Given the description of an element on the screen output the (x, y) to click on. 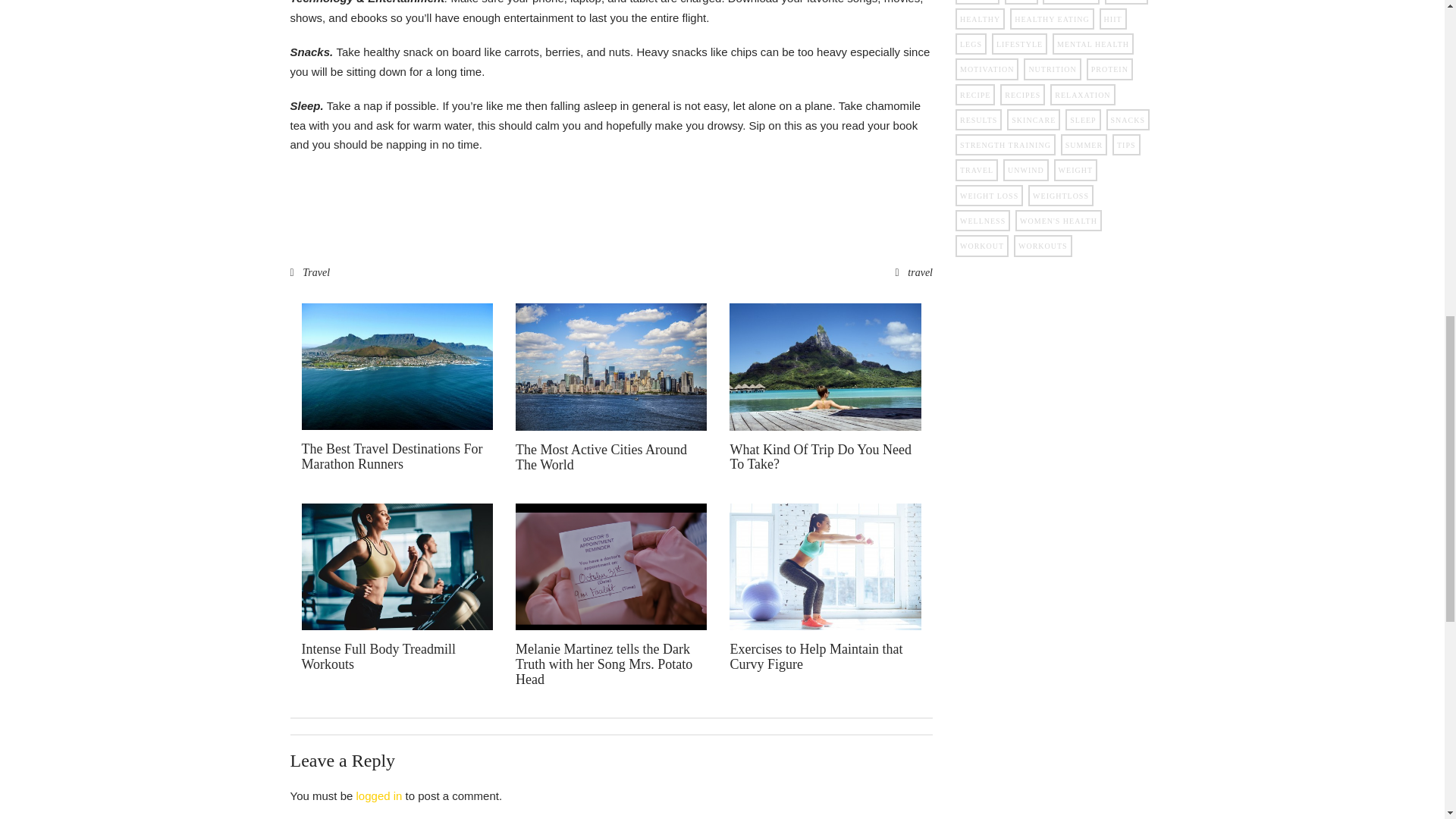
Exercises to Help Maintain that Curvy Figure (815, 656)
Travel (316, 272)
The Most Active Cities Around The World (601, 457)
The Best Travel Destinations For Marathon Runners (392, 456)
Intense Full Body Treadmill Workouts (379, 656)
What Kind Of Trip Do You Need To Take? (824, 366)
Intense Full Body Treadmill Workouts (379, 656)
travel (920, 272)
The Most Active Cities Around The World (601, 457)
The Best Travel Destinations For Marathon Runners (397, 366)
logged in (379, 795)
The Best Travel Destinations For Marathon Runners (392, 456)
What Kind Of Trip Do You Need To Take? (820, 457)
